Given the description of an element on the screen output the (x, y) to click on. 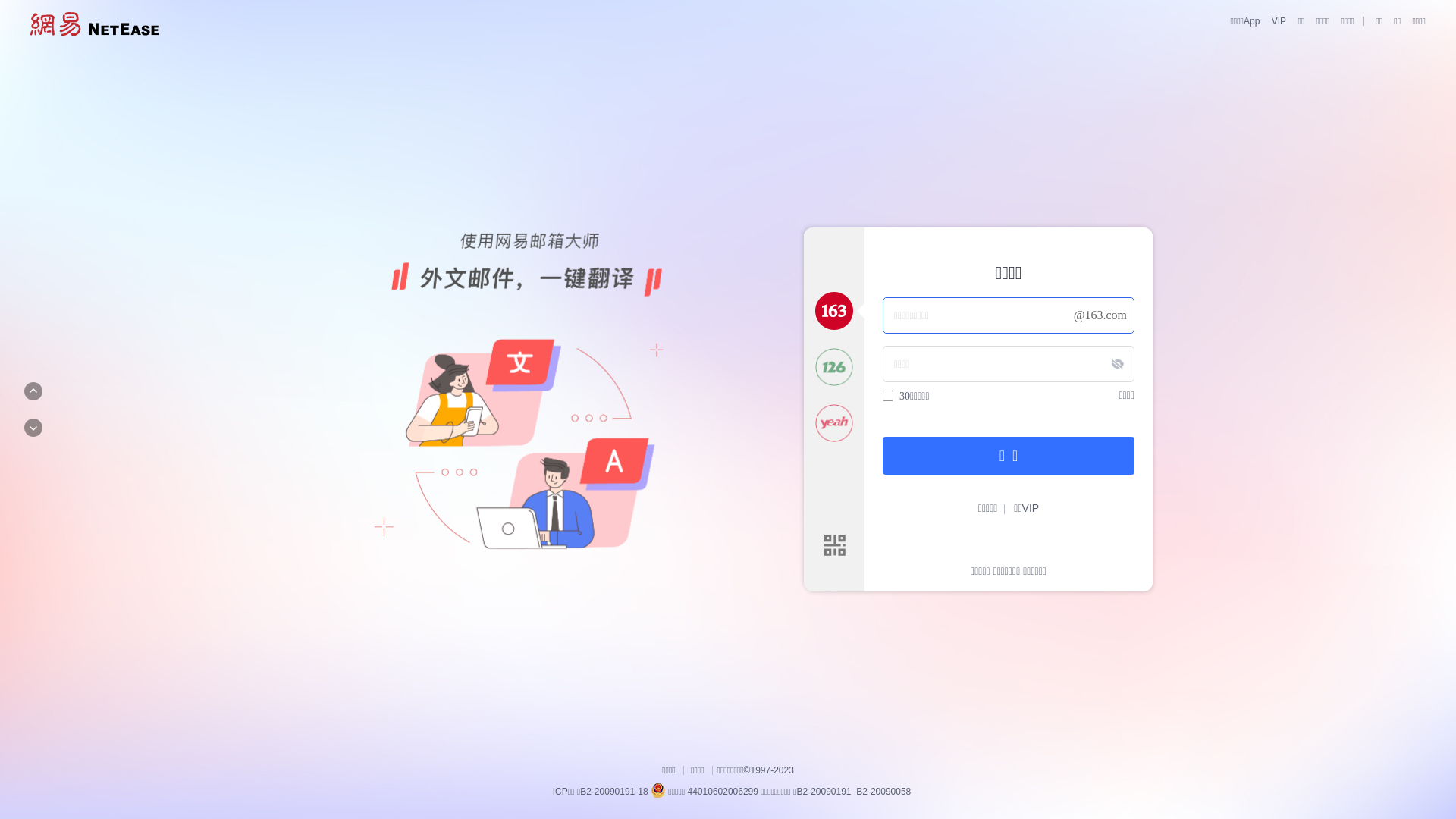
VIP Element type: text (1274, 21)
 B2-20090058 Element type: text (881, 791)
